Given the description of an element on the screen output the (x, y) to click on. 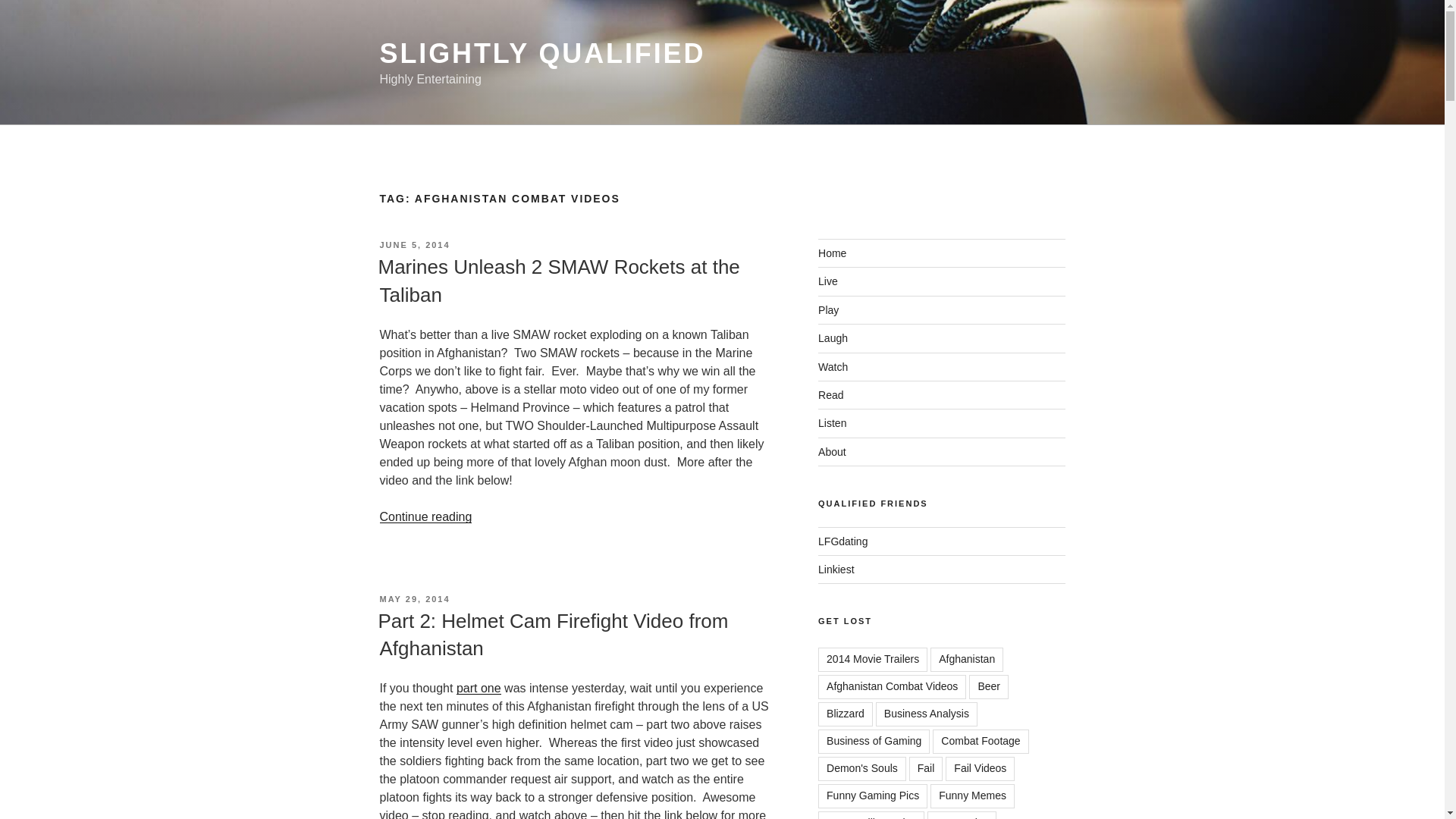
MAY 29, 2014 (413, 598)
part one (478, 687)
JUNE 5, 2014 (413, 244)
Marines Unleash 2 SMAW Rockets at the Taliban (558, 280)
Part 2: Helmet Cam Firefight Video from Afghanistan (552, 634)
SLIGHTLY QUALIFIED (541, 52)
